Given the description of an element on the screen output the (x, y) to click on. 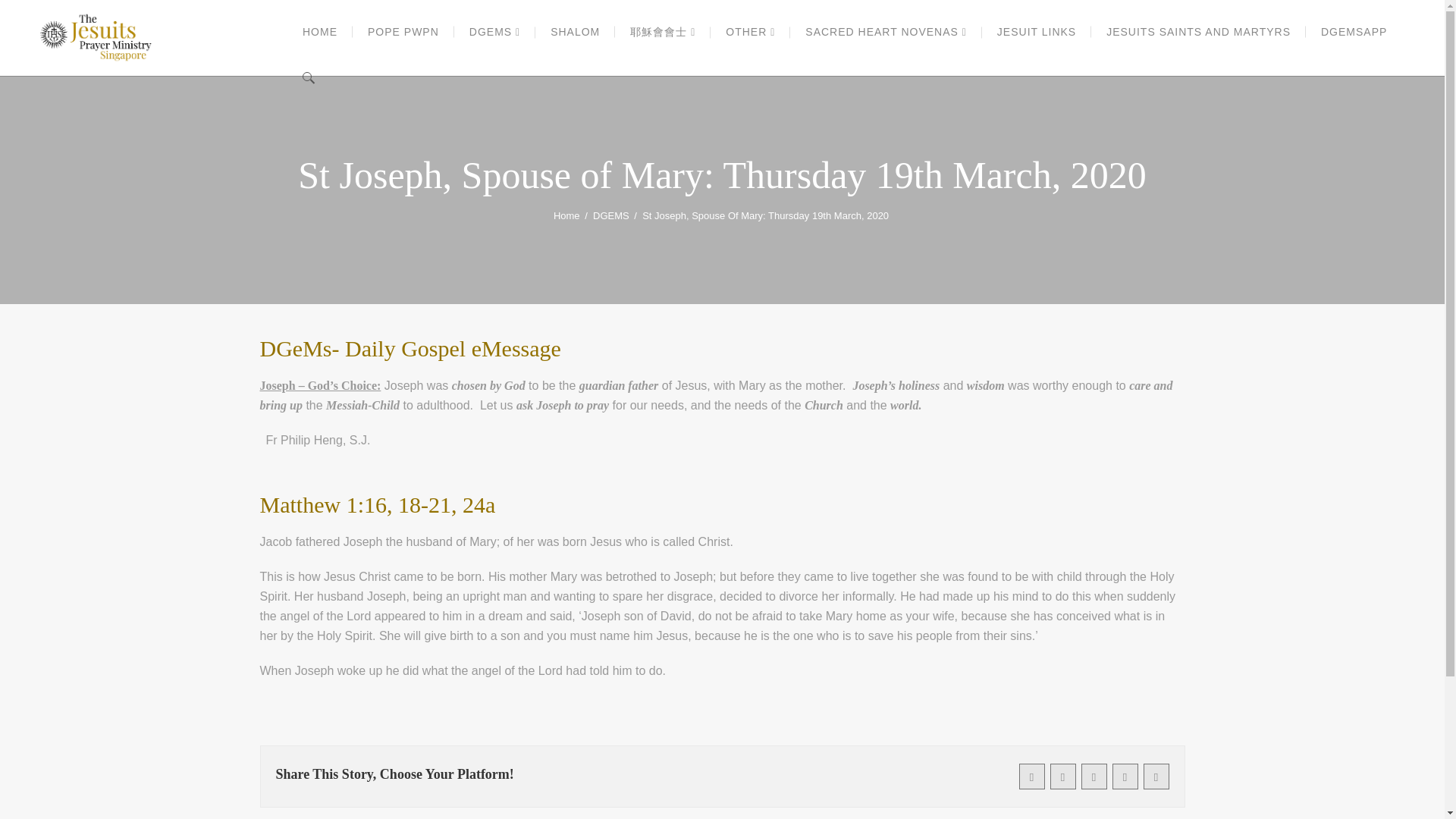
DGEMS (494, 32)
JESUITS SAINTS AND MARTYRS (1198, 31)
OTHER (750, 32)
SHALOM (575, 31)
JESUIT LINKS (1036, 31)
SACRED HEART NOVENAS (885, 32)
DGEMSAPP (1353, 31)
POPE PWPN (402, 31)
Search (1177, 43)
